Given the description of an element on the screen output the (x, y) to click on. 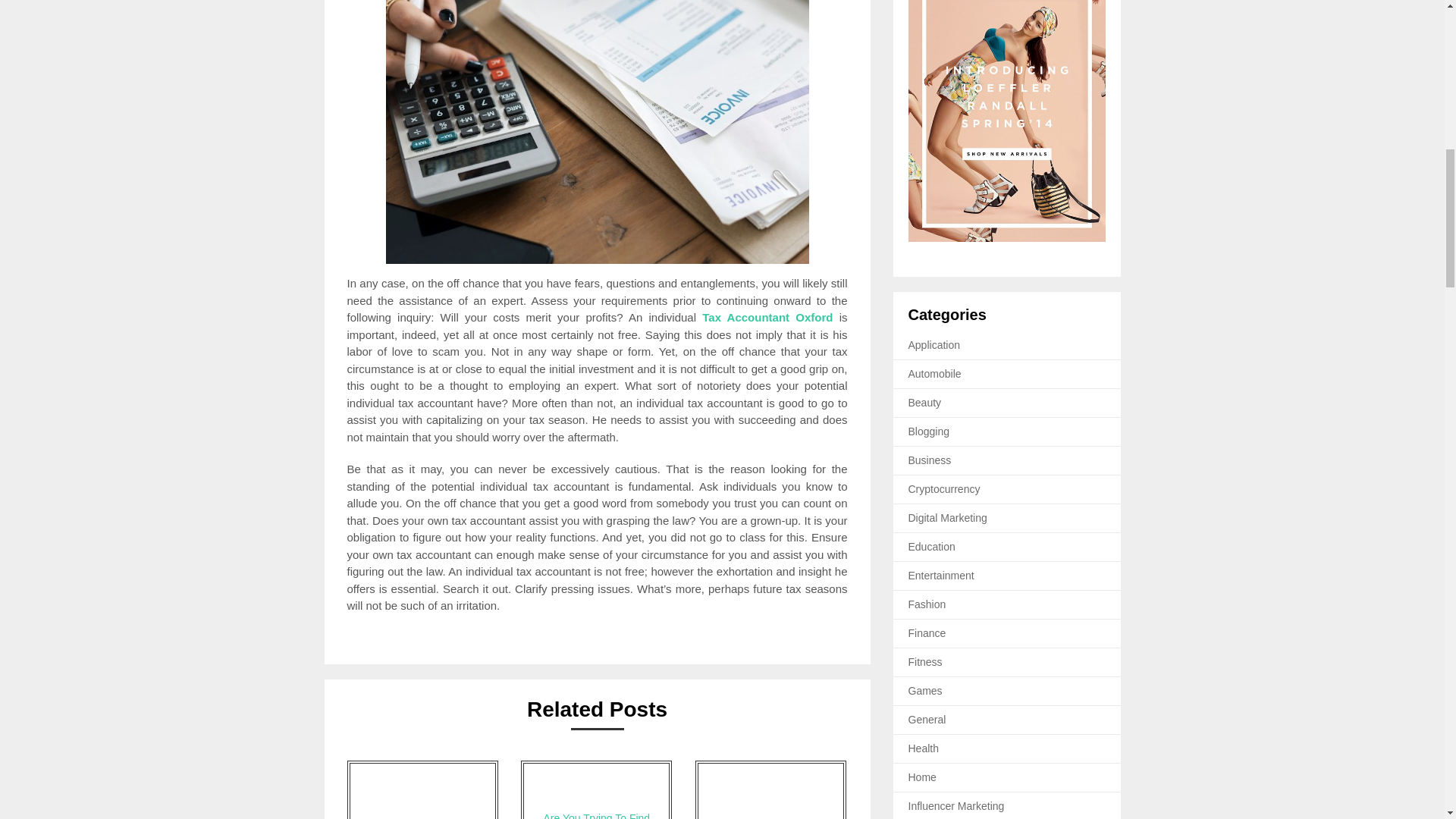
Influencer Marketing (956, 806)
Are You Trying To Find Payday Loan Debt Solution For You? (596, 789)
Education (931, 546)
Fashion (927, 604)
Value Of Value Or Cryptocurrency Of Bitcoin (422, 789)
Entertainment (941, 575)
Home (922, 776)
General (927, 719)
Steps to get ensured pay day loan approval (770, 789)
Digital Marketing (947, 517)
